Given the description of an element on the screen output the (x, y) to click on. 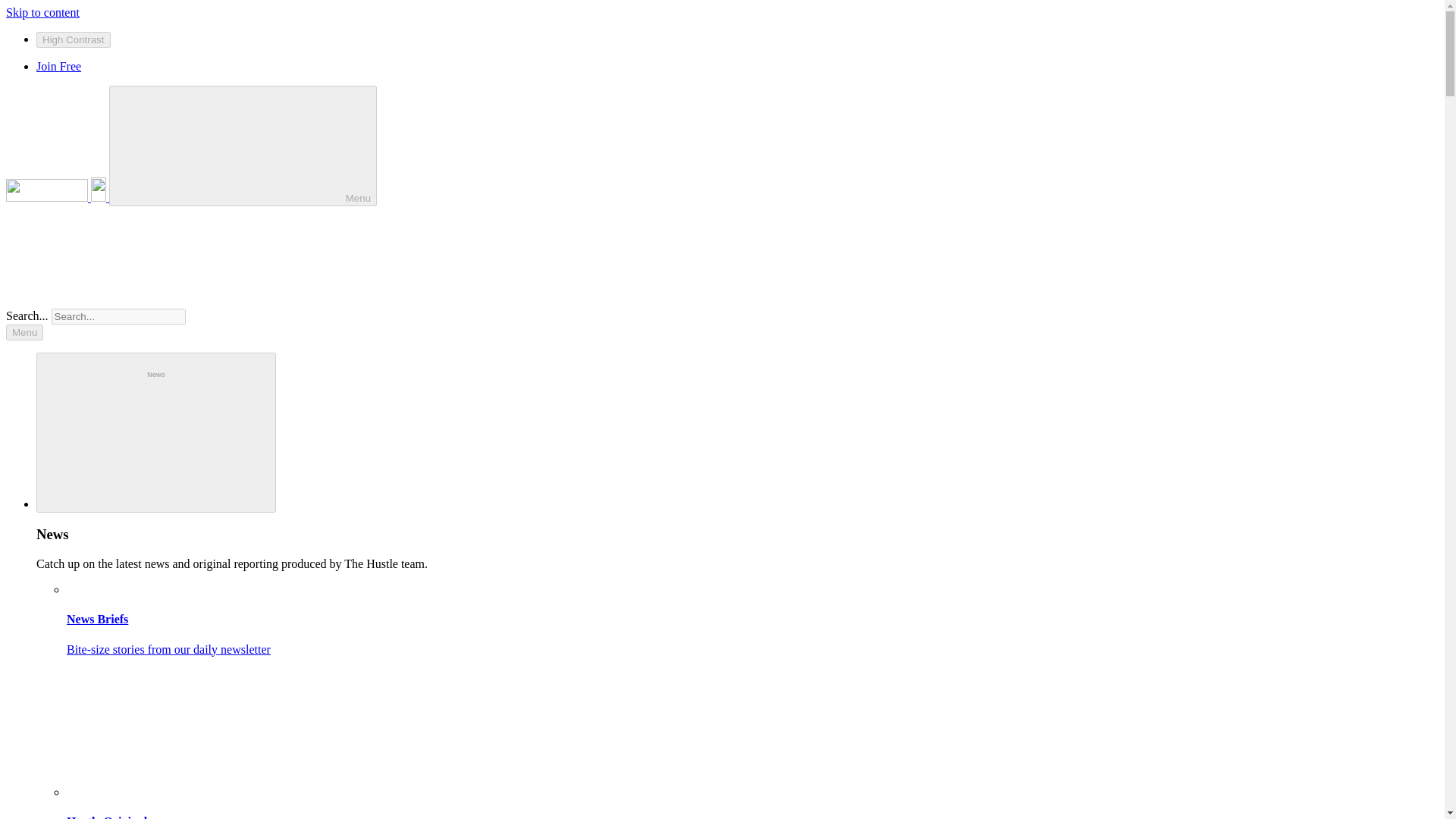
Menu (243, 145)
Join Free (58, 65)
Menu (24, 332)
Skip to content (42, 11)
High Contrast (73, 39)
News (156, 432)
